Given the description of an element on the screen output the (x, y) to click on. 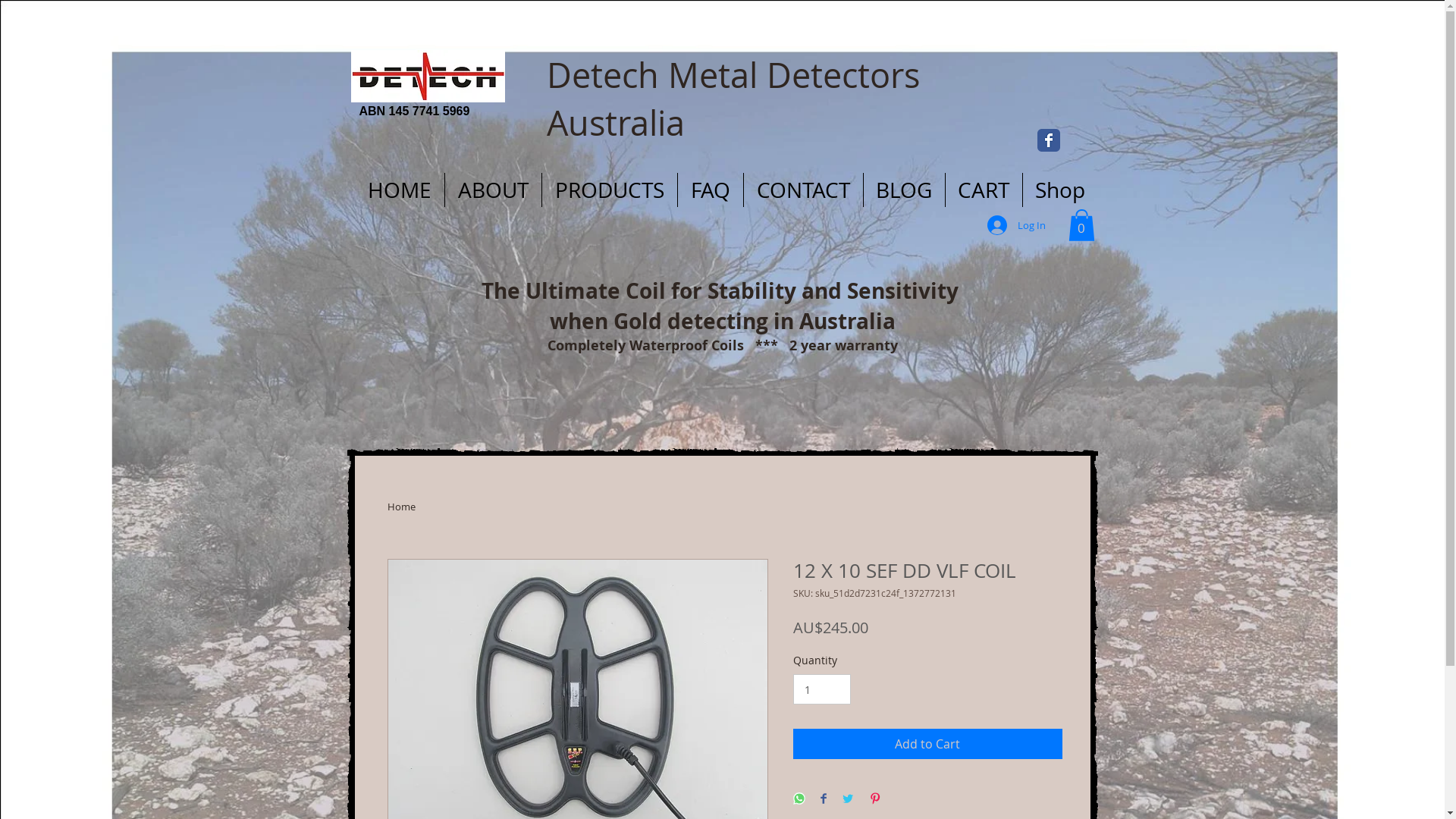
FAQ Element type: text (710, 189)
Shop Element type: text (1059, 189)
Add to Cart Element type: text (927, 743)
CONTACT Element type: text (802, 189)
Home Element type: text (400, 506)
ABOUT Element type: text (492, 189)
HOME Element type: text (399, 189)
0 Element type: text (1080, 225)
CART Element type: text (982, 189)
BLOG Element type: text (903, 189)
PRODUCTS Element type: text (608, 189)
Log In Element type: text (1016, 224)
